Given the description of an element on the screen output the (x, y) to click on. 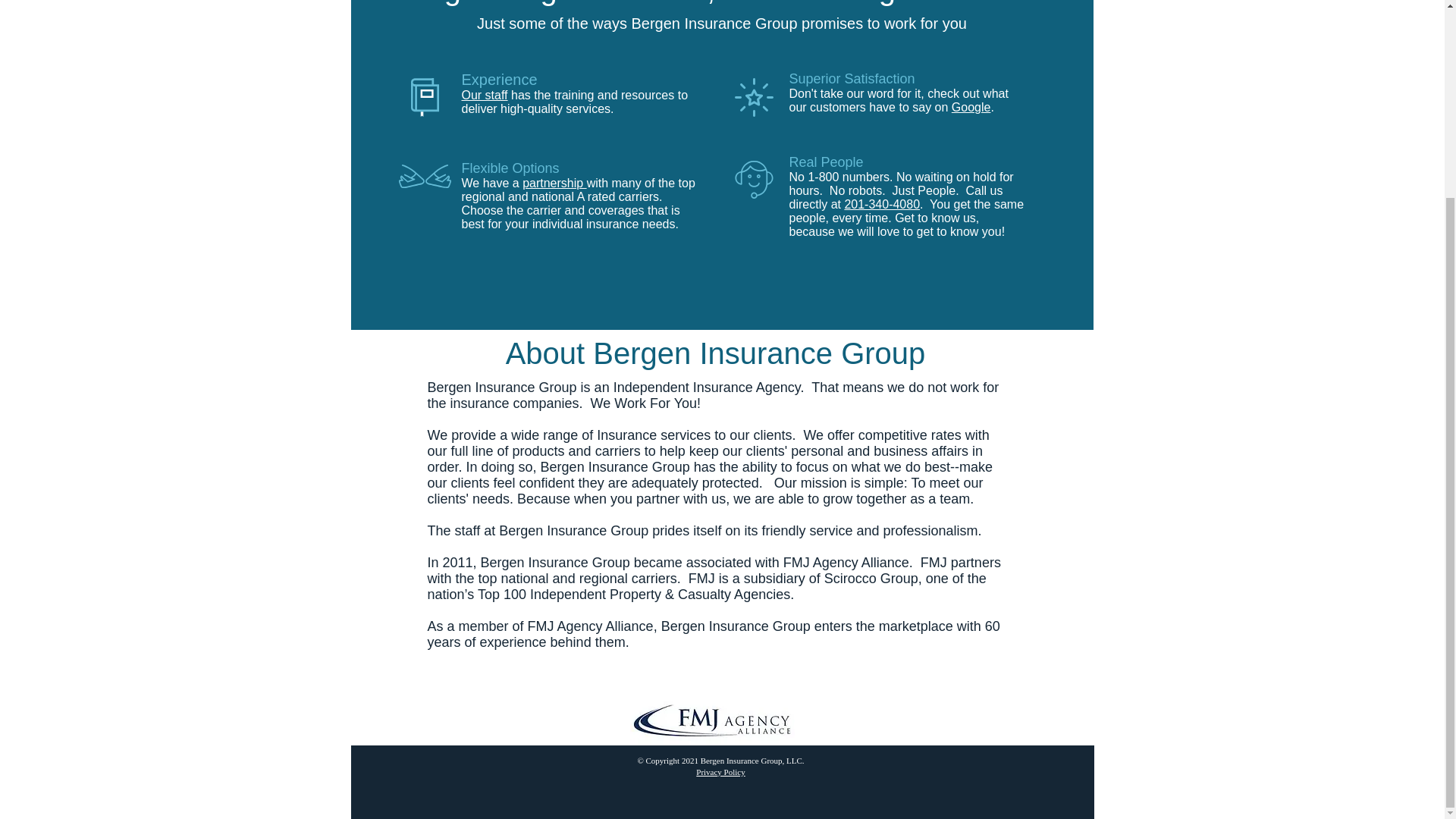
Our staff (483, 94)
partnership  (554, 182)
201-340-4080 (882, 204)
Privacy Policy (719, 771)
Google (971, 106)
